Given the description of an element on the screen output the (x, y) to click on. 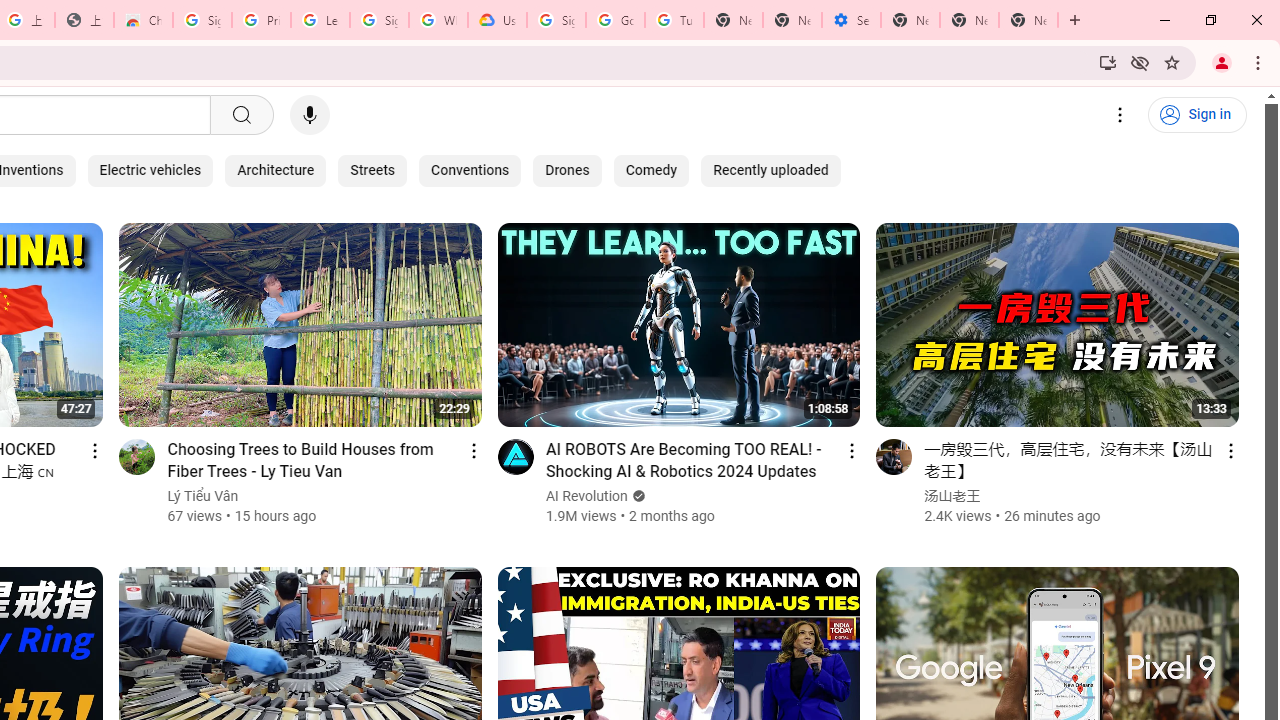
Settings - Addresses and more (850, 20)
Turn cookies on or off - Computer - Google Account Help (674, 20)
Recently uploaded (770, 170)
Install YouTube (1107, 62)
Who are Google's partners? - Privacy and conditions - Google (438, 20)
Architecture (275, 170)
Electric vehicles (150, 170)
